Given the description of an element on the screen output the (x, y) to click on. 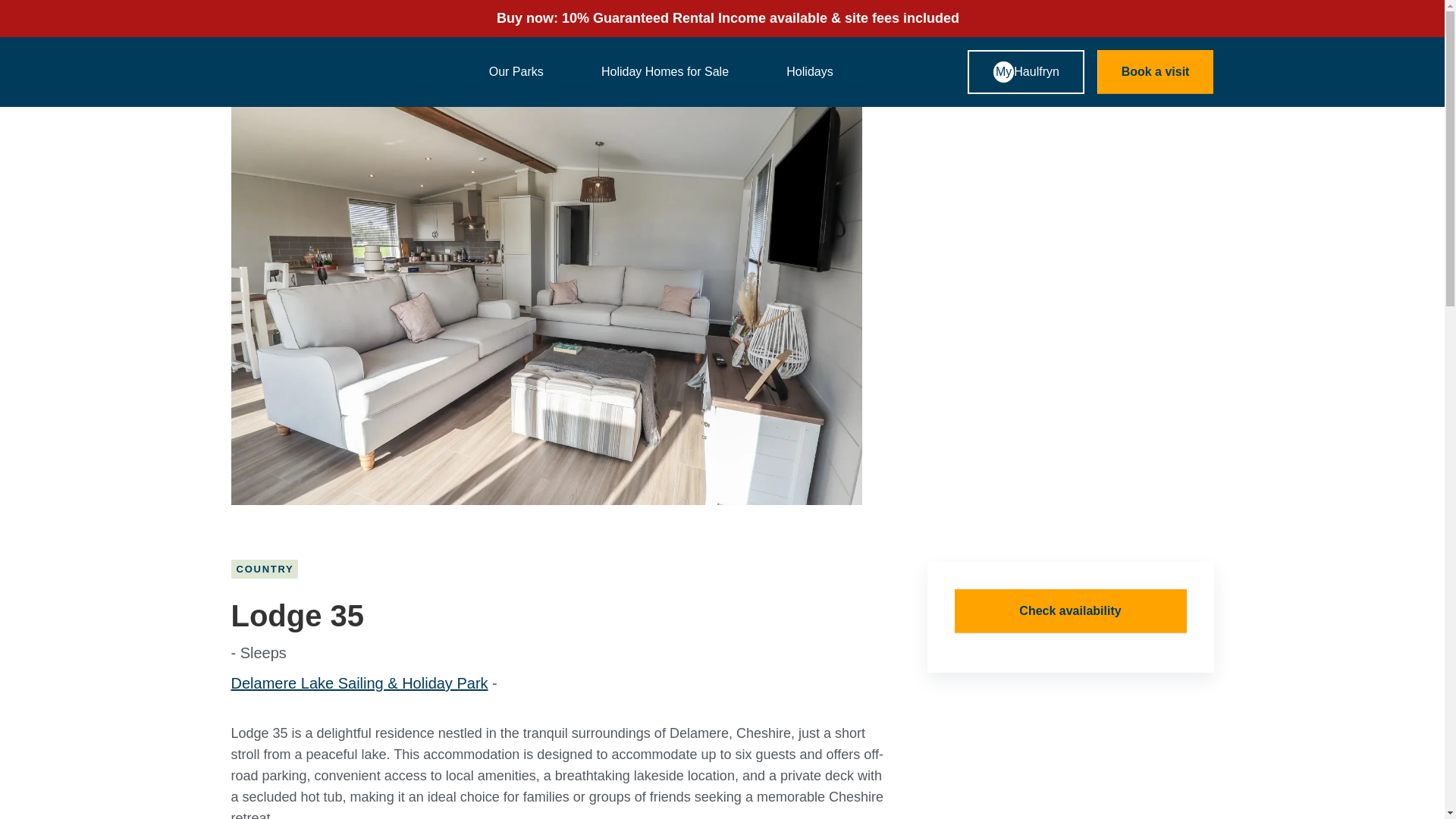
MyHaulfryn (1026, 71)
Holidays (821, 73)
COUNTRY (263, 568)
Holiday Homes for Sale (676, 73)
Our Parks (528, 73)
Book a visit (1155, 71)
